Given the description of an element on the screen output the (x, y) to click on. 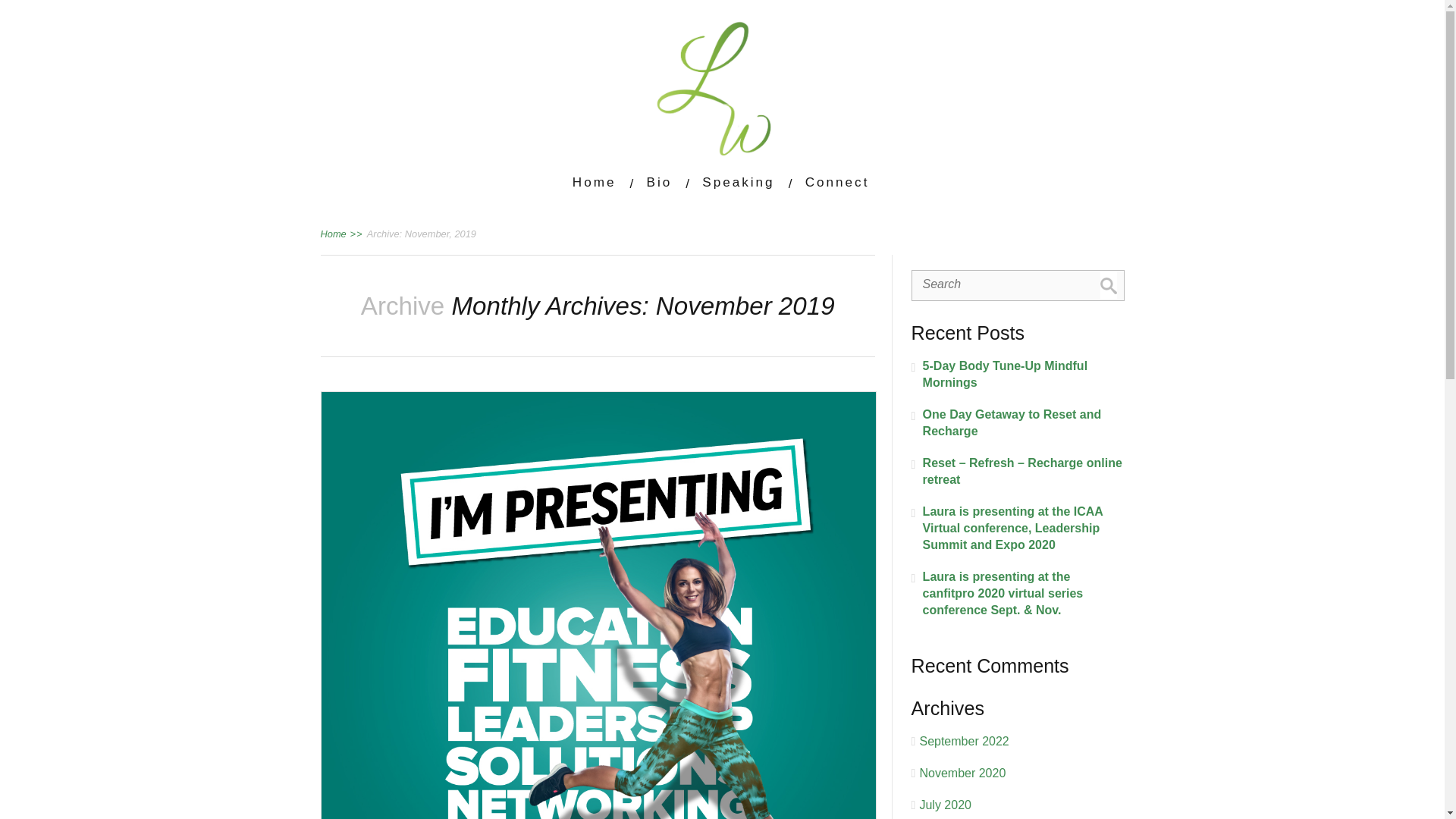
5-Day Body Tune-Up Mindful Mornings (1017, 374)
Connect (836, 181)
Speaking (738, 181)
July 2020 (944, 804)
One Day Getaway to Reset and Recharge (1017, 422)
September 2022 (963, 740)
Bio (658, 181)
Home (593, 181)
November 2020 (962, 772)
